Given the description of an element on the screen output the (x, y) to click on. 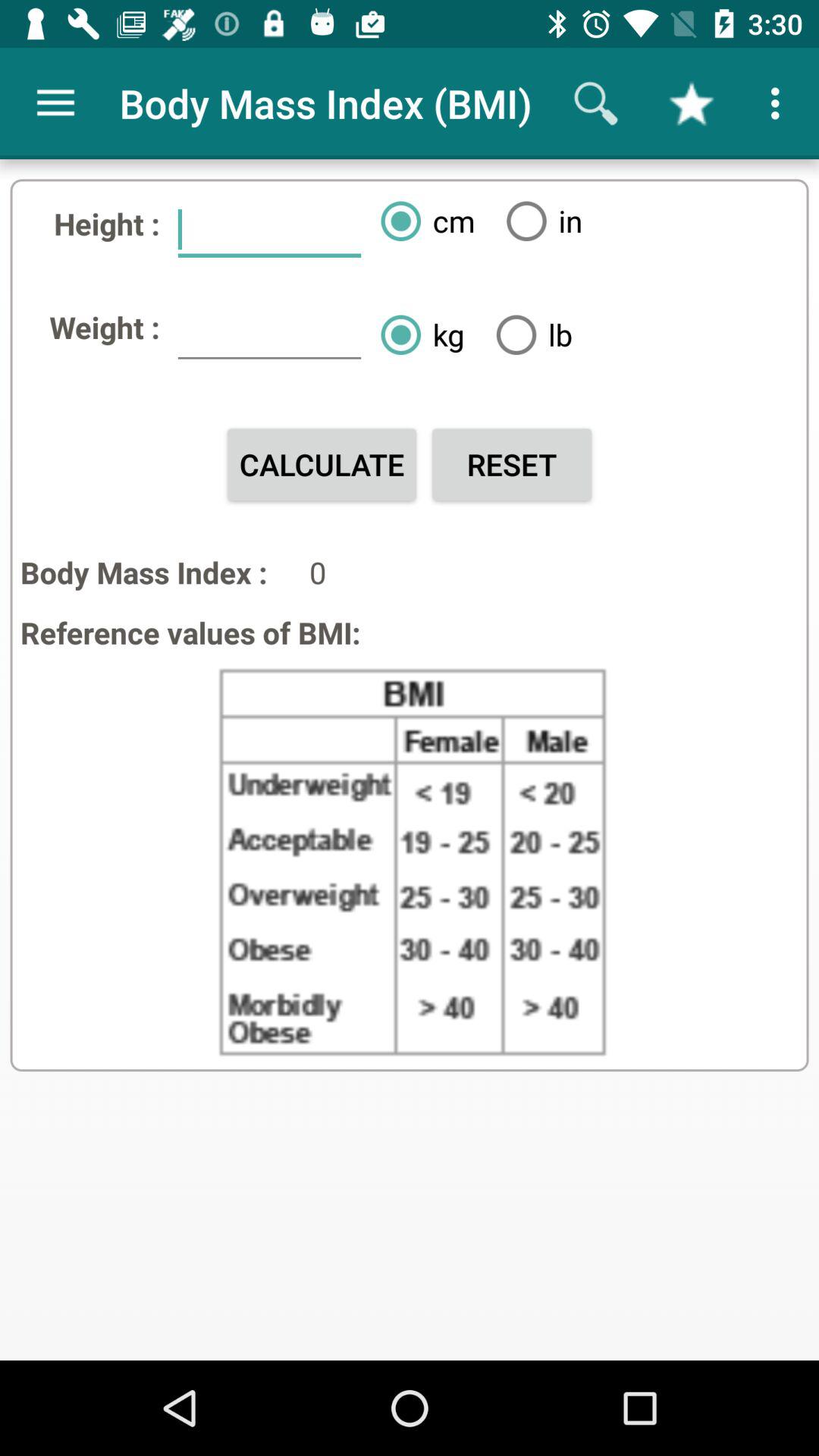
launch in icon (538, 221)
